Given the description of an element on the screen output the (x, y) to click on. 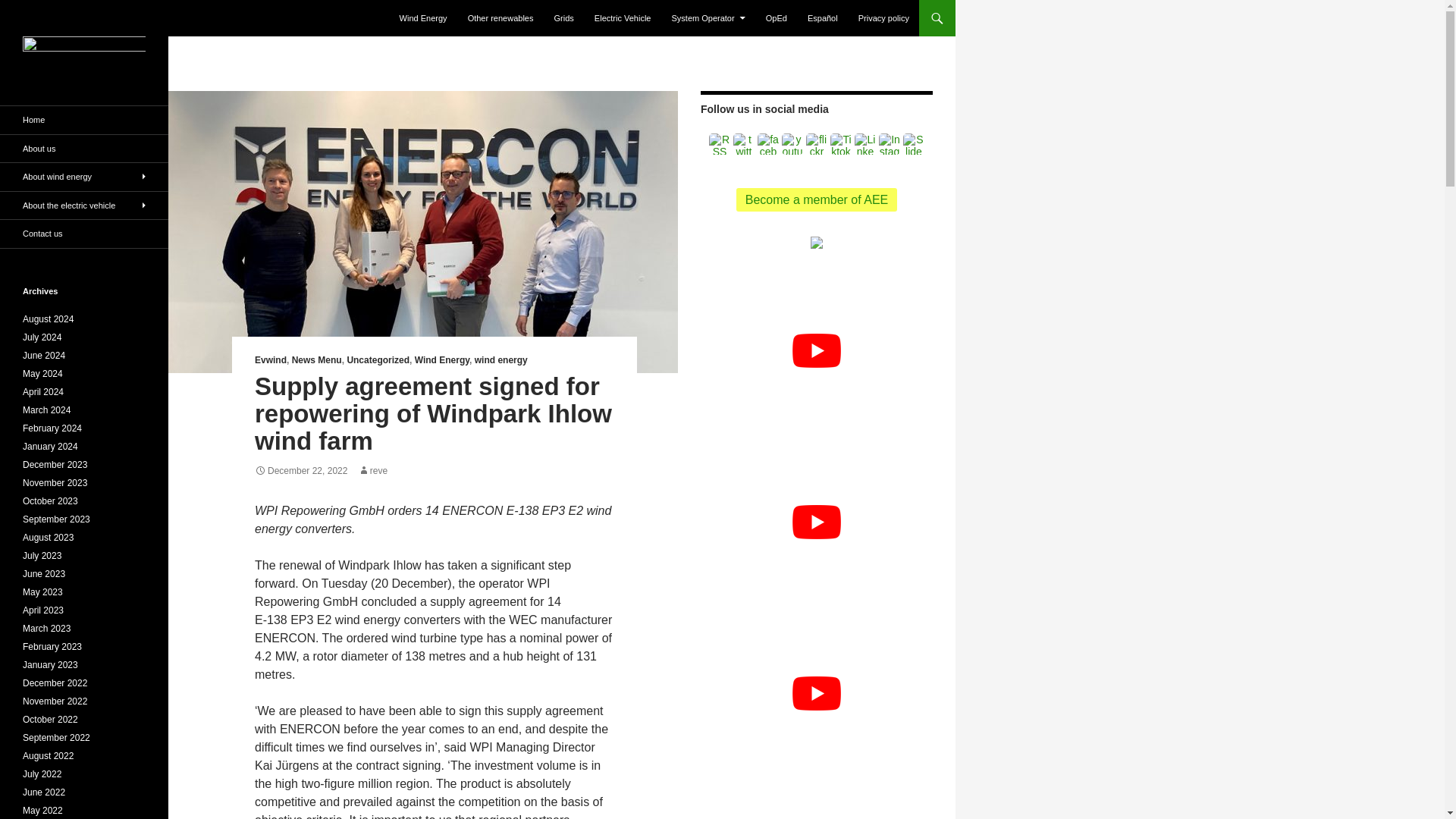
twitter (743, 143)
Grids (563, 18)
Evwind (270, 359)
Become a member of AEE (817, 199)
Tiktok (840, 143)
Slideshare (913, 143)
Uncategorized (377, 359)
youtube (792, 143)
facebook (767, 143)
News Menu (317, 359)
